Given the description of an element on the screen output the (x, y) to click on. 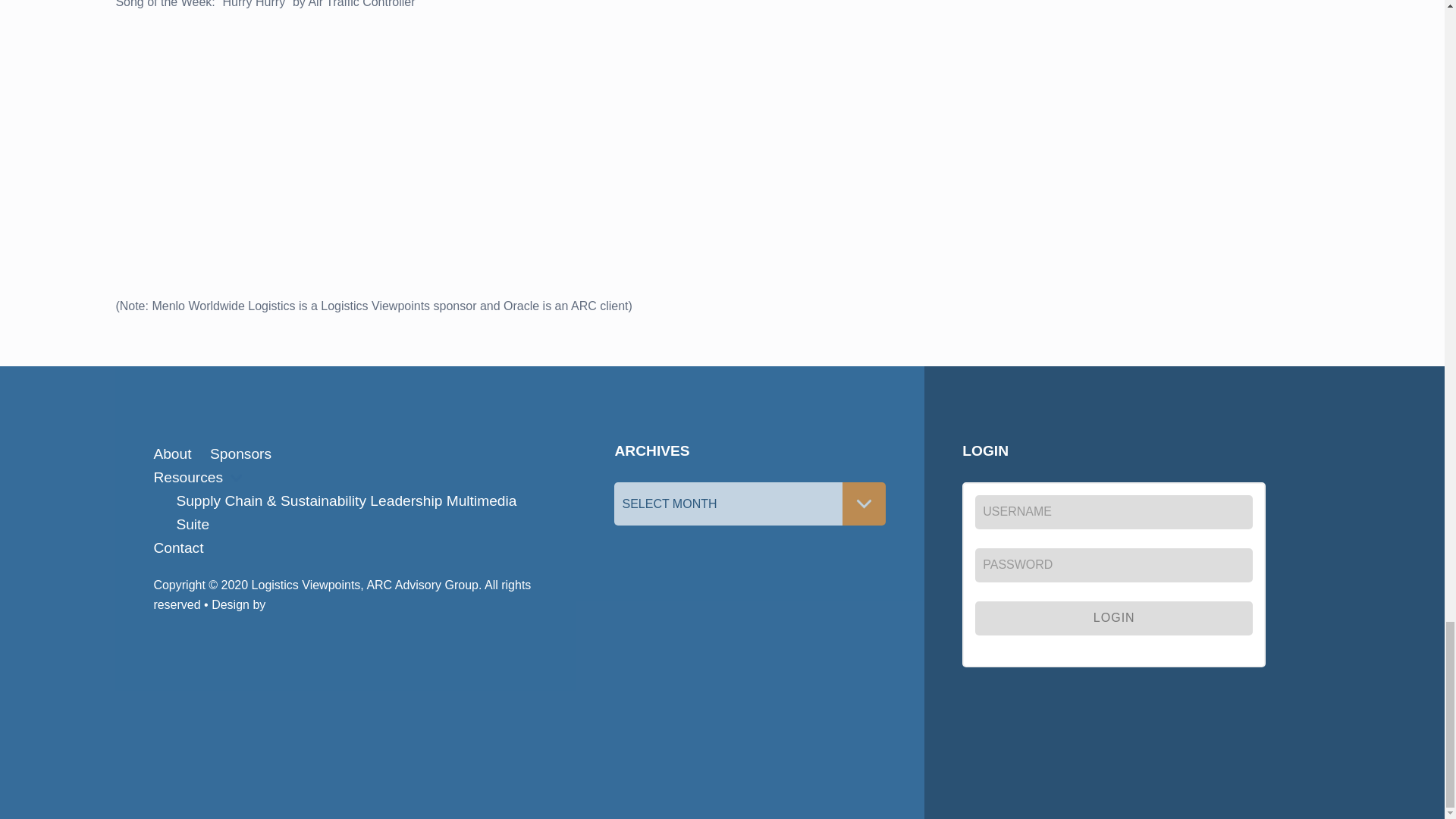
Login (1113, 618)
Please enter username (1113, 512)
Please enter password (1113, 564)
